Given the description of an element on the screen output the (x, y) to click on. 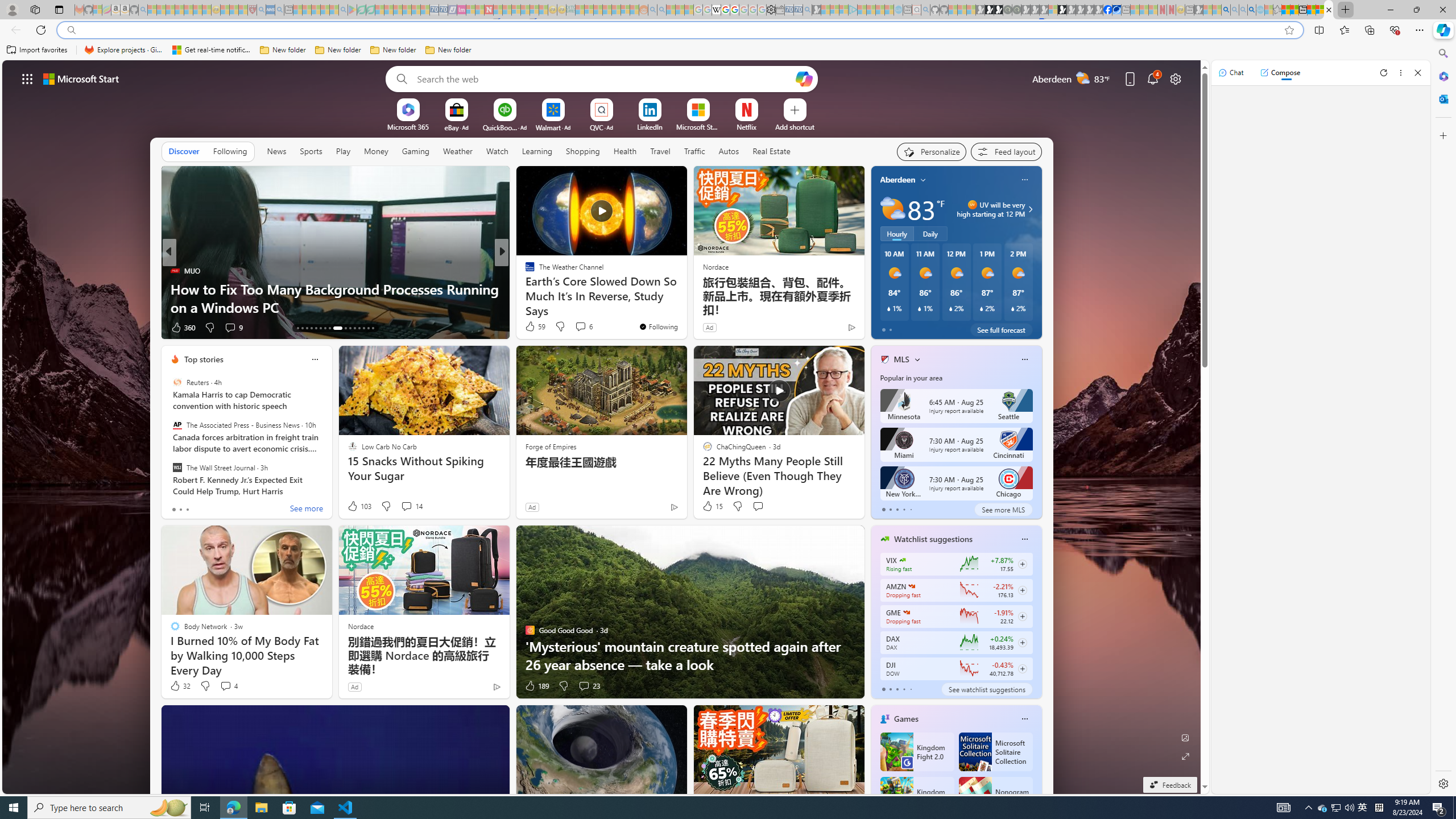
Weather (457, 151)
Utah sues federal government - Search - Sleeping (661, 9)
Gaming (415, 151)
tab-3 (903, 689)
Partly sunny (892, 208)
Personalize your feed" (931, 151)
Bing Real Estate - Home sales and rental listings - Sleeping (806, 9)
24 Like (530, 327)
Nordace | Facebook (1106, 9)
CNET (524, 270)
AutomationID: tab-27 (368, 328)
